Given the description of an element on the screen output the (x, y) to click on. 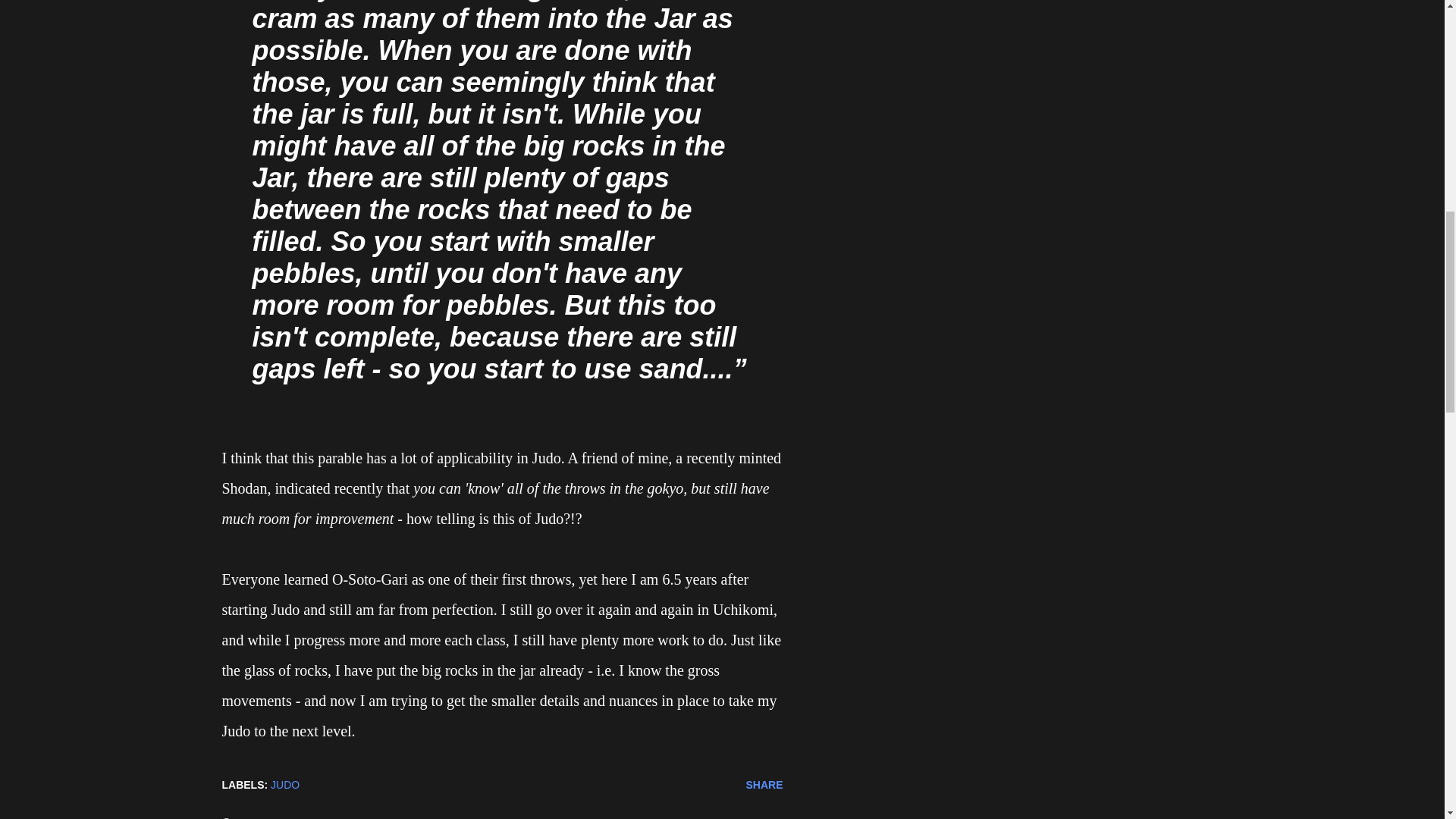
Email Post (322, 784)
JUDO (284, 784)
SHARE (764, 784)
